Given the description of an element on the screen output the (x, y) to click on. 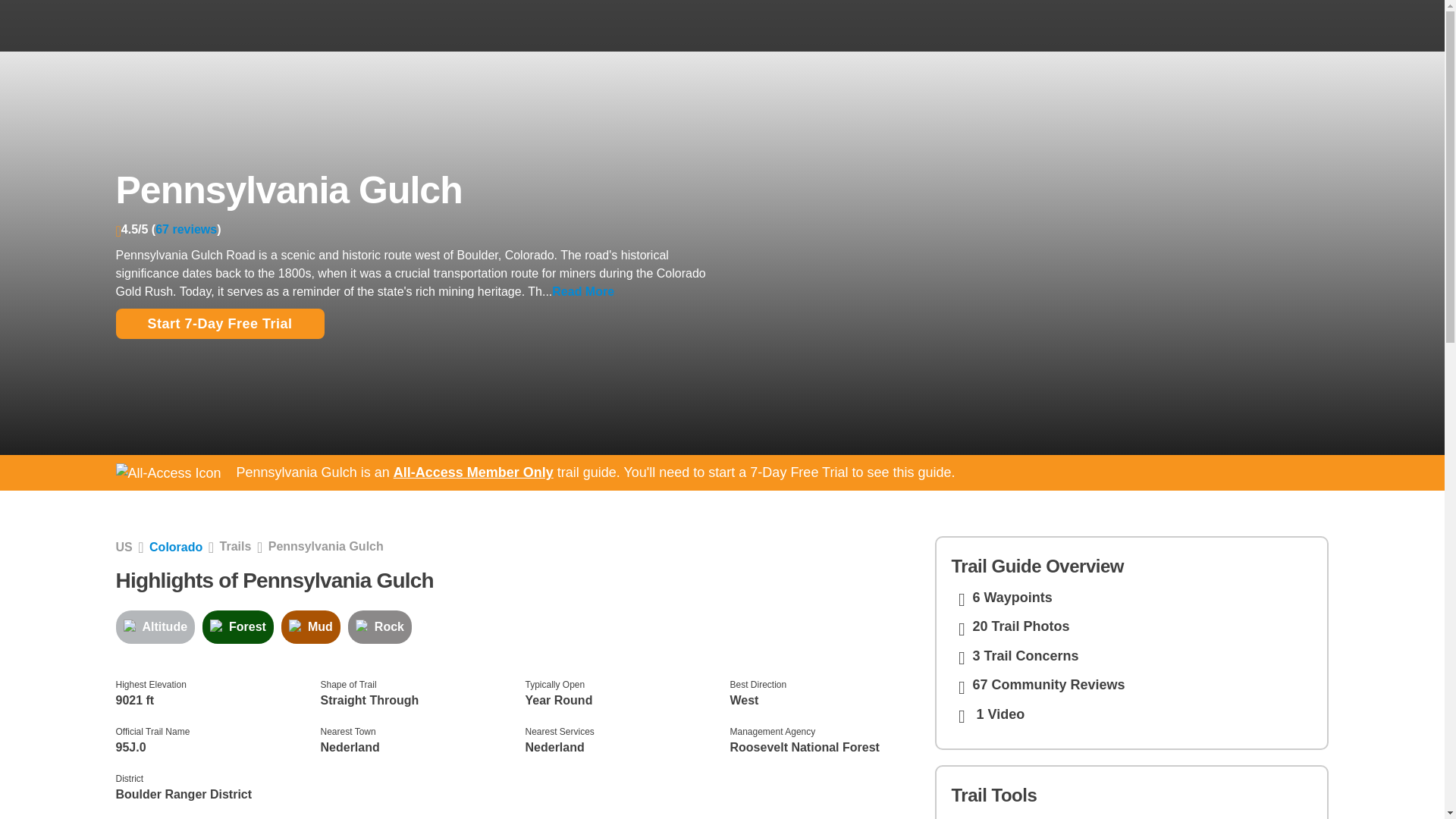
Read More (582, 291)
Start 7-Day Free Trial (219, 323)
67 reviews (185, 228)
Colorado (175, 546)
